Given the description of an element on the screen output the (x, y) to click on. 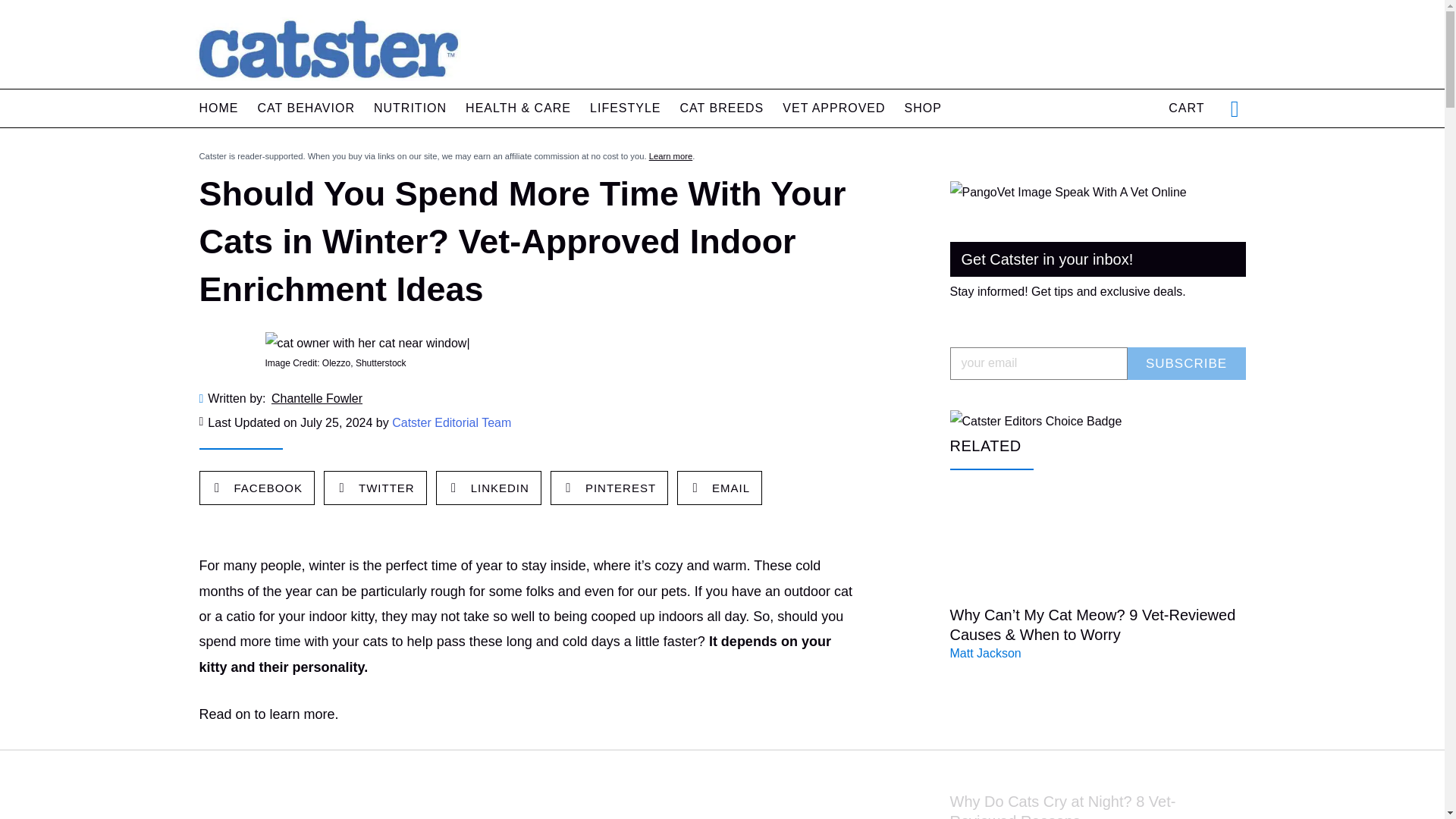
LIFESTYLE (625, 108)
VET APPROVED (834, 108)
HOME (218, 108)
Written by: Chantelle Fowler (528, 398)
CAT BREEDS (721, 108)
CAT BEHAVIOR (306, 108)
TWITTER (375, 487)
Learn more (671, 155)
CART (1186, 108)
FACEBOOK (257, 487)
SHOP (923, 108)
Catster Editorial Team (451, 422)
NUTRITION (410, 108)
